Given the description of an element on the screen output the (x, y) to click on. 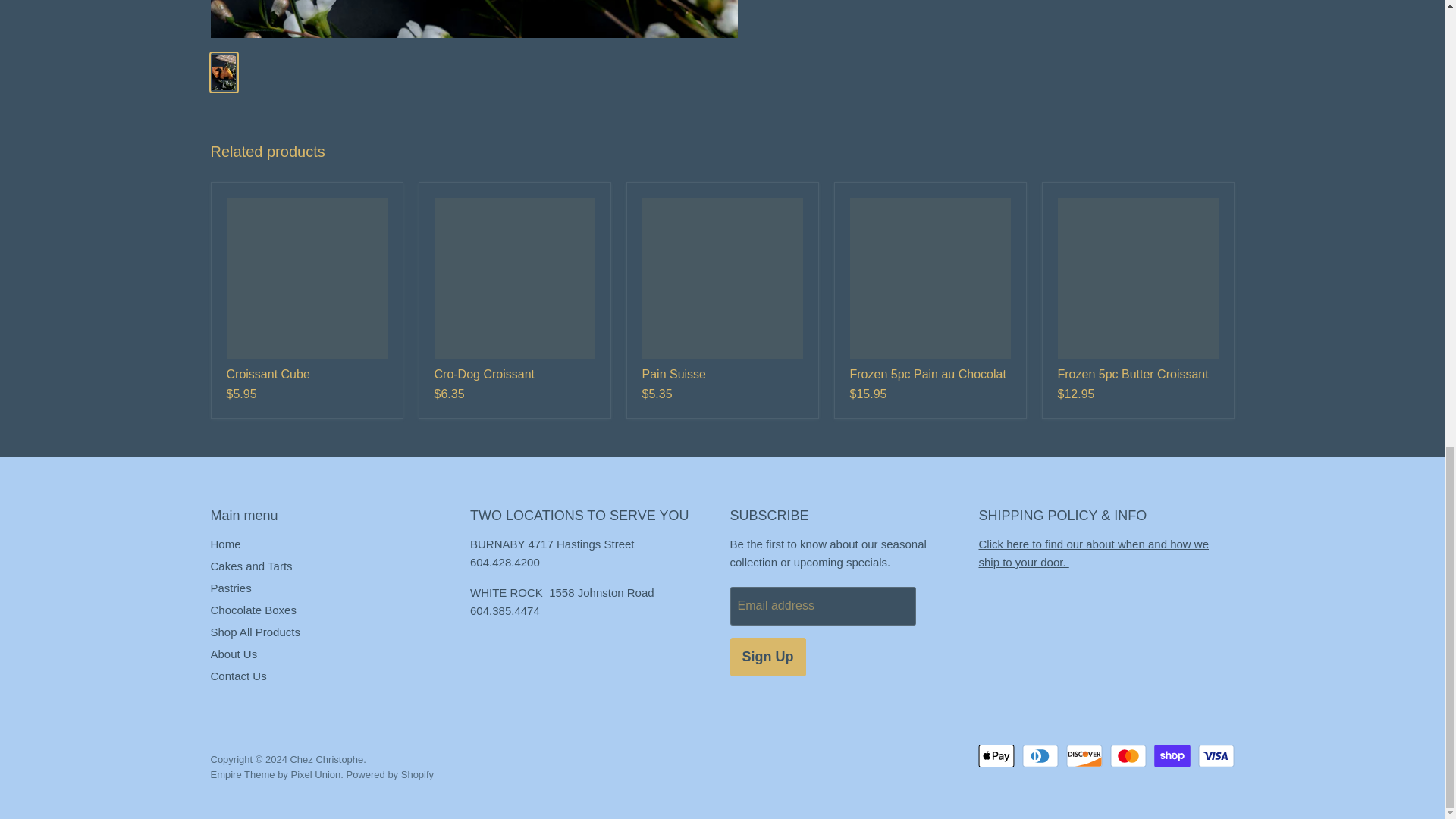
Apple Pay (996, 755)
Discover (1083, 755)
Shop Pay (1172, 755)
Diners Club (1040, 755)
Visa (1216, 755)
Mastercard (1128, 755)
